Given the description of an element on the screen output the (x, y) to click on. 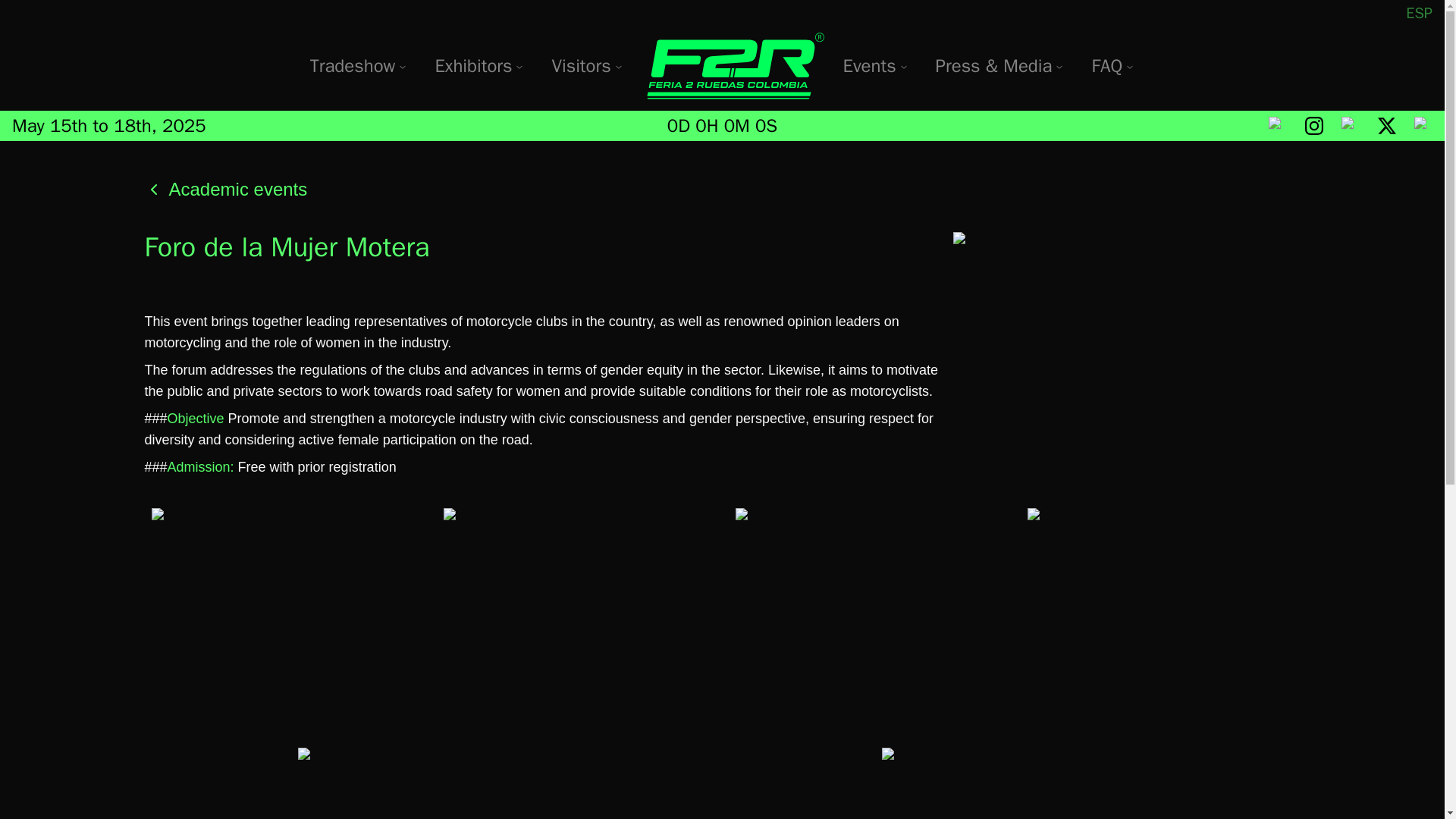
FAQ (1112, 65)
FAQ (1106, 65)
Events (869, 65)
Exhibitors (478, 65)
Instagram (1313, 126)
YouTube (1349, 126)
Tradeshow (359, 65)
Facebook (1277, 126)
Spotify (1422, 126)
Visitors (586, 65)
Tradeshow (353, 65)
Events (875, 65)
Academic events (225, 189)
Exhibitors (472, 65)
Visitors (580, 65)
